Given the description of an element on the screen output the (x, y) to click on. 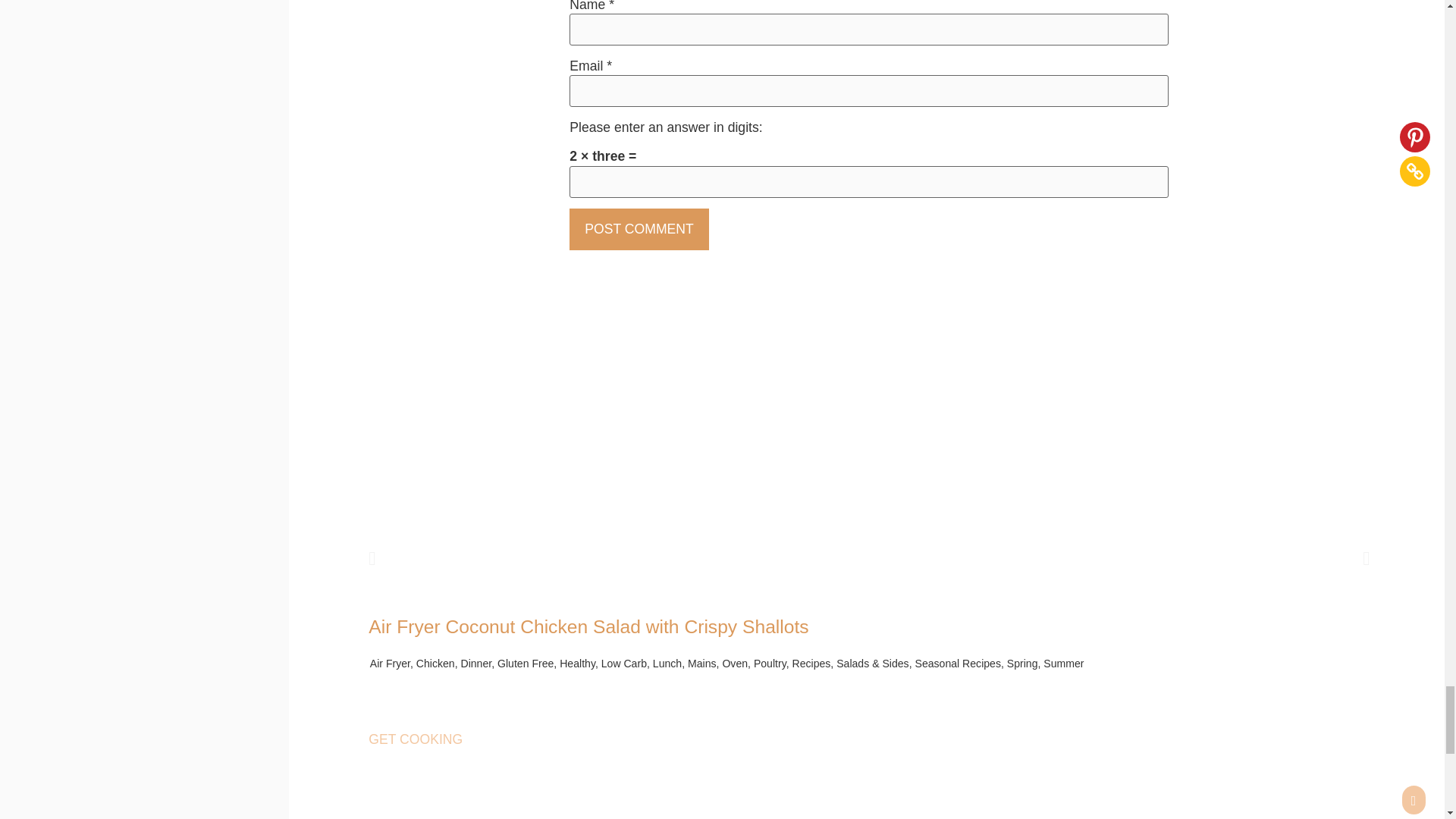
Post Comment (638, 229)
